Given the description of an element on the screen output the (x, y) to click on. 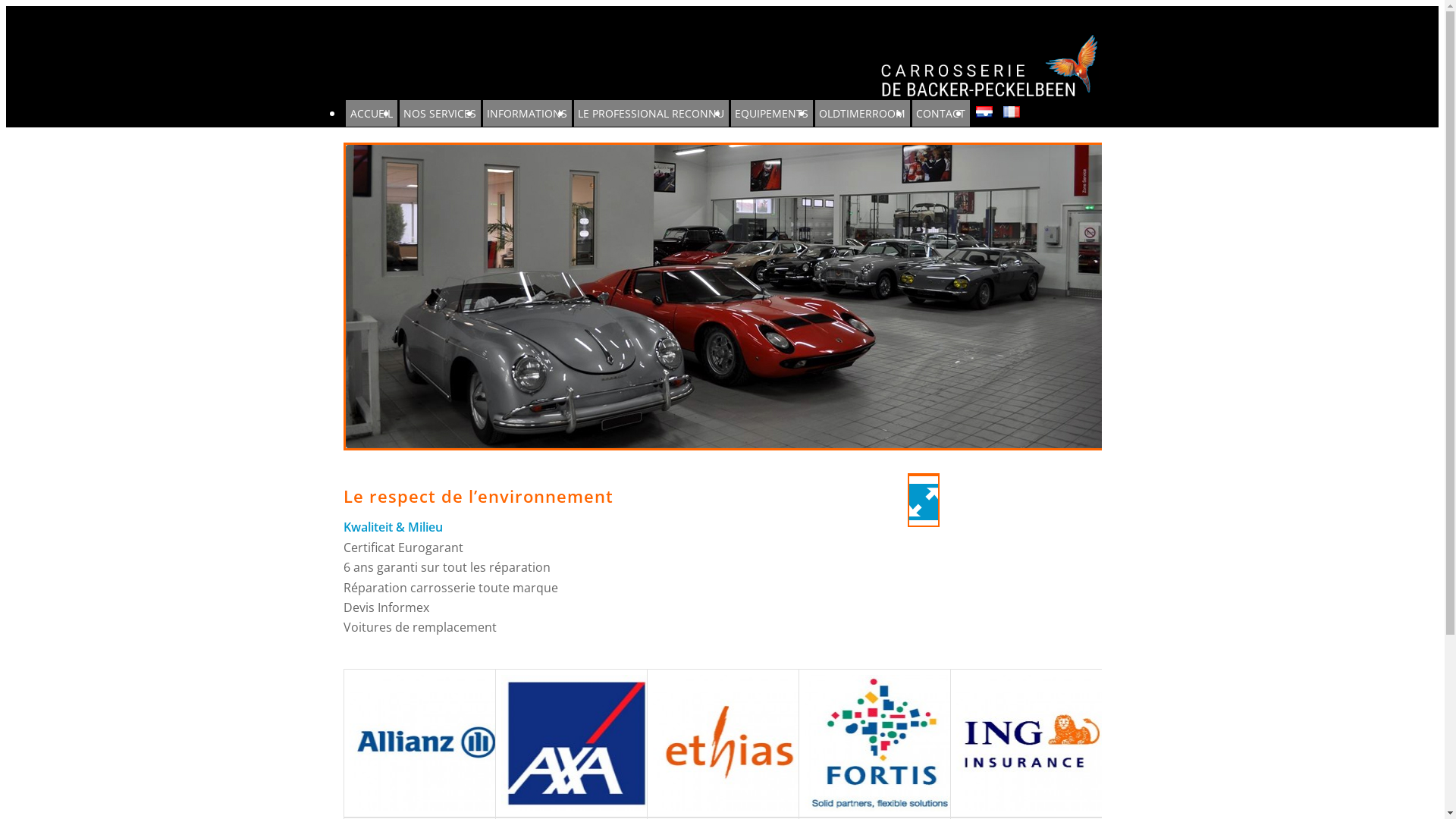
allianz Element type: hover (424, 742)
EQUIPEMENTS Element type: text (771, 113)
ACCUEIL Element type: text (371, 113)
INFORMATIONS Element type: text (526, 113)
fortis Element type: hover (879, 742)
test1 Element type: hover (724, 296)
ing Element type: hover (1031, 742)
Ethias Element type: hover (727, 742)
CONTACT Element type: text (940, 113)
OLDTIMERROOM Element type: text (861, 113)
6072 Element type: hover (922, 475)
LE PROFESSIONAL RECONNU Element type: text (650, 113)
Axa Element type: hover (576, 742)
NOS SERVICES Element type: text (439, 113)
